Given the description of an element on the screen output the (x, y) to click on. 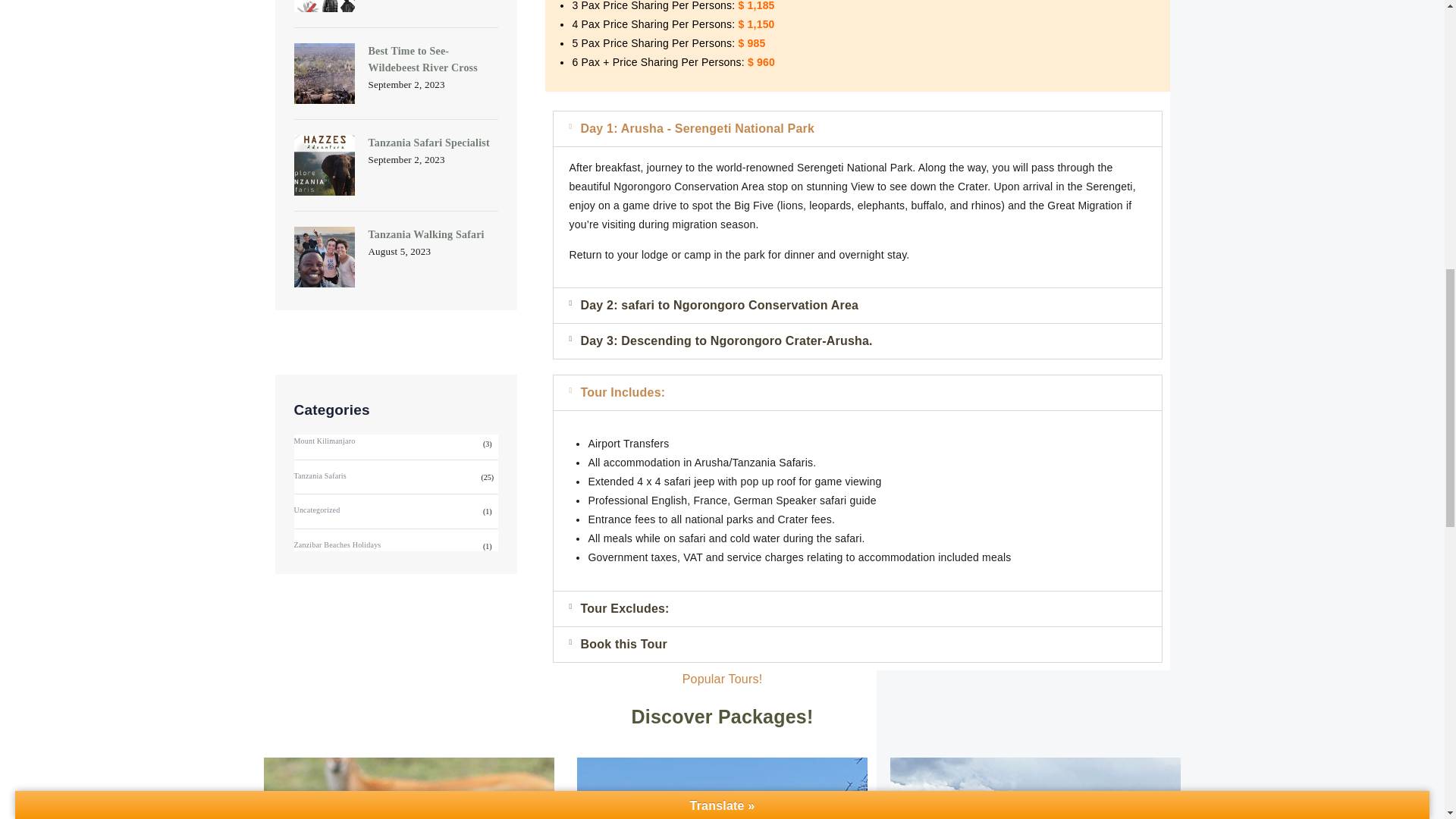
Tour Excludes: (623, 608)
Day 1: Arusha - Serengeti National Park (696, 128)
Tanzania Safari Specialist (428, 142)
Day 3: Descending to Ngorongoro Crater-Arusha. (725, 340)
Book this Tour (622, 644)
Tour Includes: (622, 391)
Best Time to See-Wildebeest River Cross (422, 59)
Day 2: safari to Ngorongoro Conservation Area (719, 305)
